Given the description of an element on the screen output the (x, y) to click on. 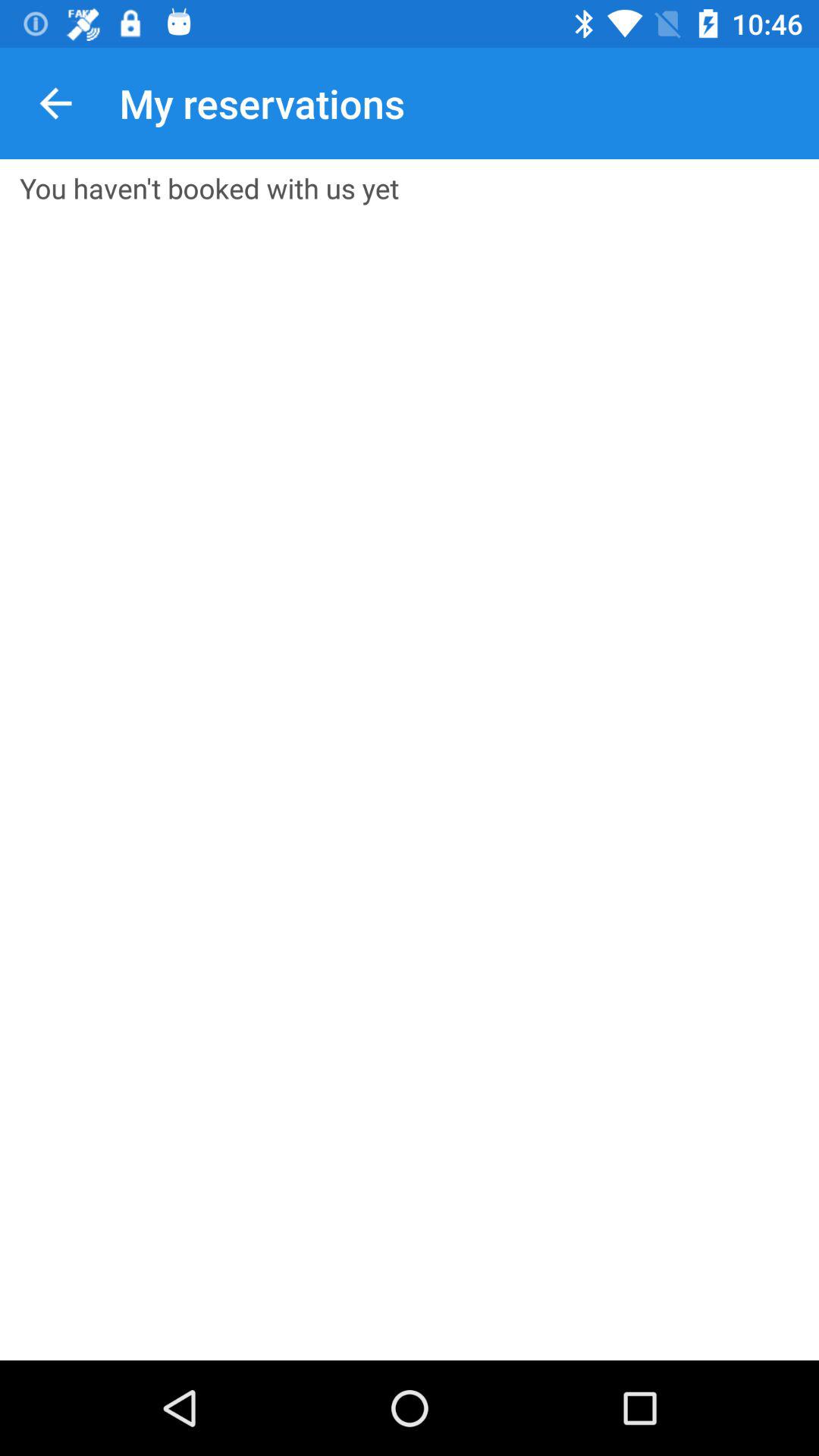
press the item above the you haven t item (55, 103)
